Given the description of an element on the screen output the (x, y) to click on. 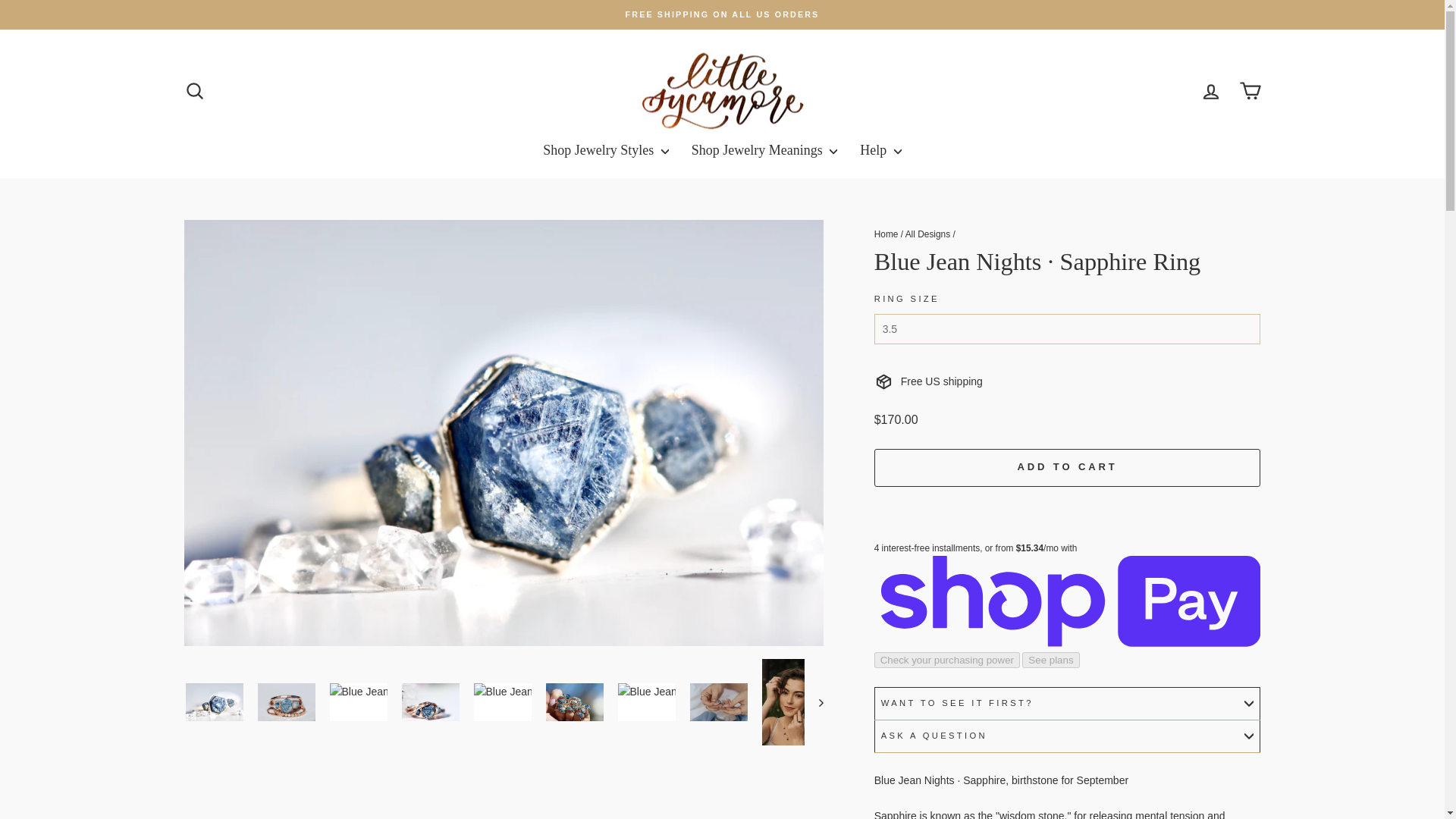
FREE SHIPPING ON ALL US ORDERS (722, 14)
Back to the frontpage (886, 234)
icon-search (194, 90)
account (1210, 91)
